Given the description of an element on the screen output the (x, y) to click on. 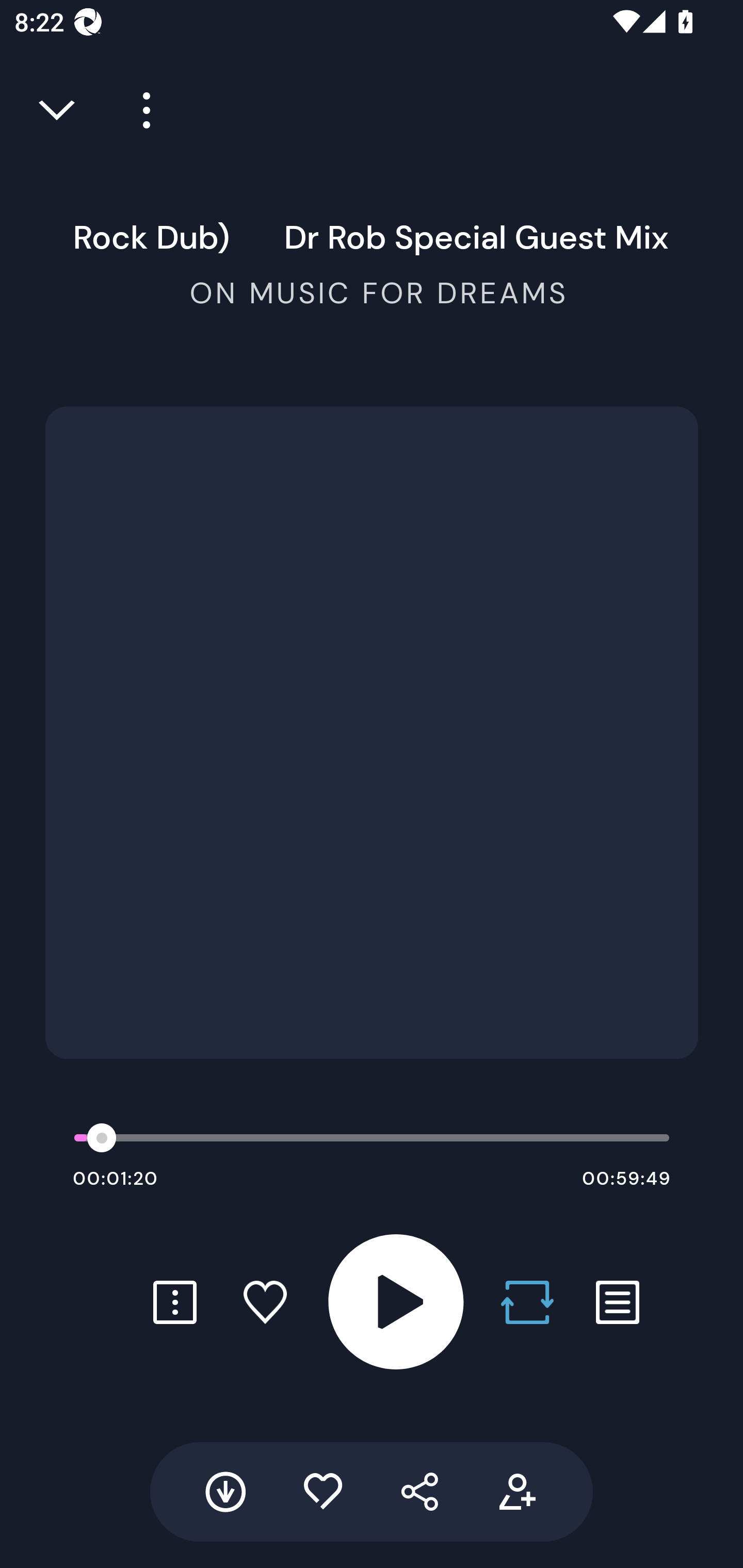
Close full player (58, 110)
Player more options button (139, 110)
Repost button (527, 1301)
